Given the description of an element on the screen output the (x, y) to click on. 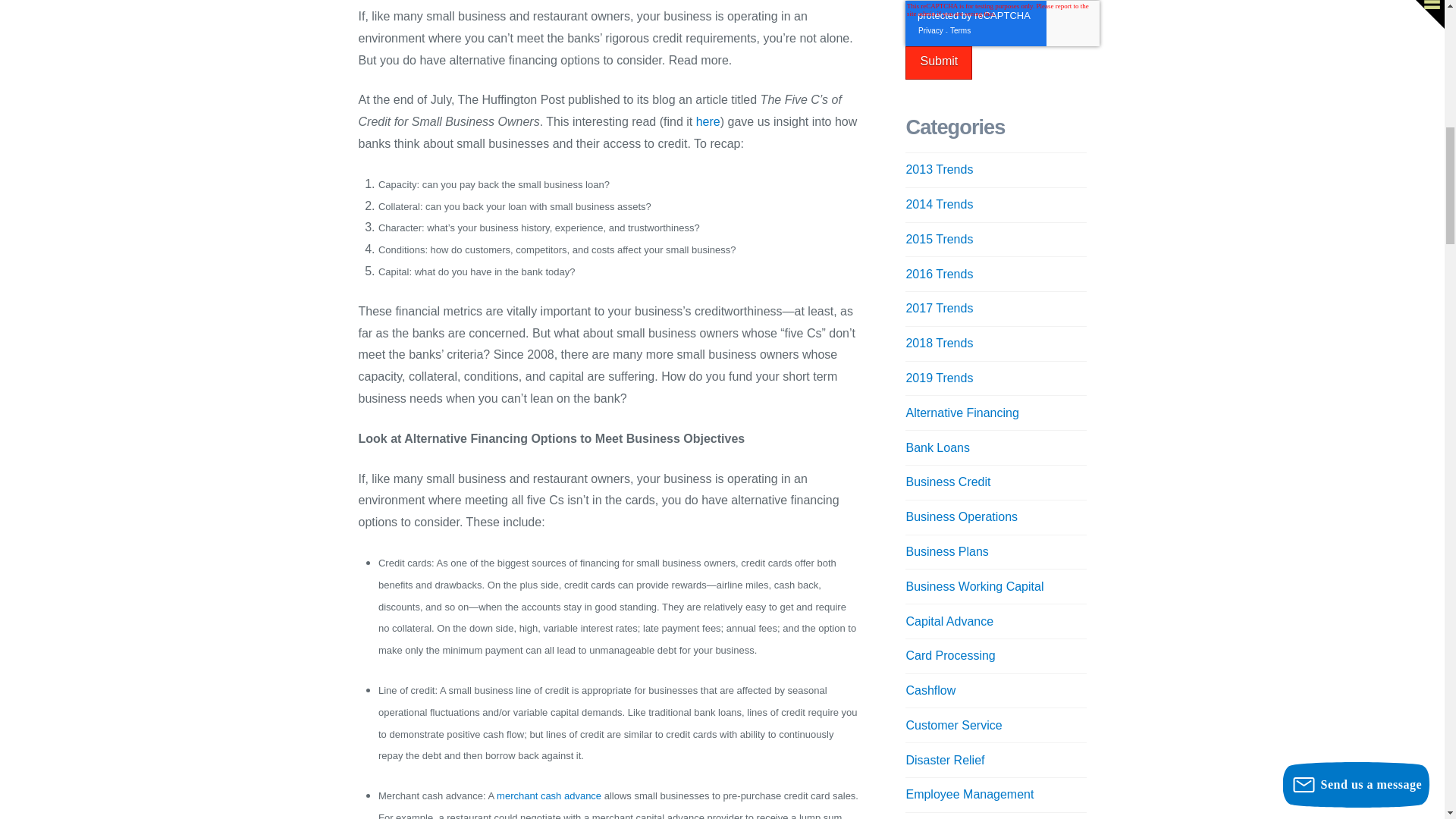
Submit (938, 62)
reCAPTCHA (1002, 22)
